Given the description of an element on the screen output the (x, y) to click on. 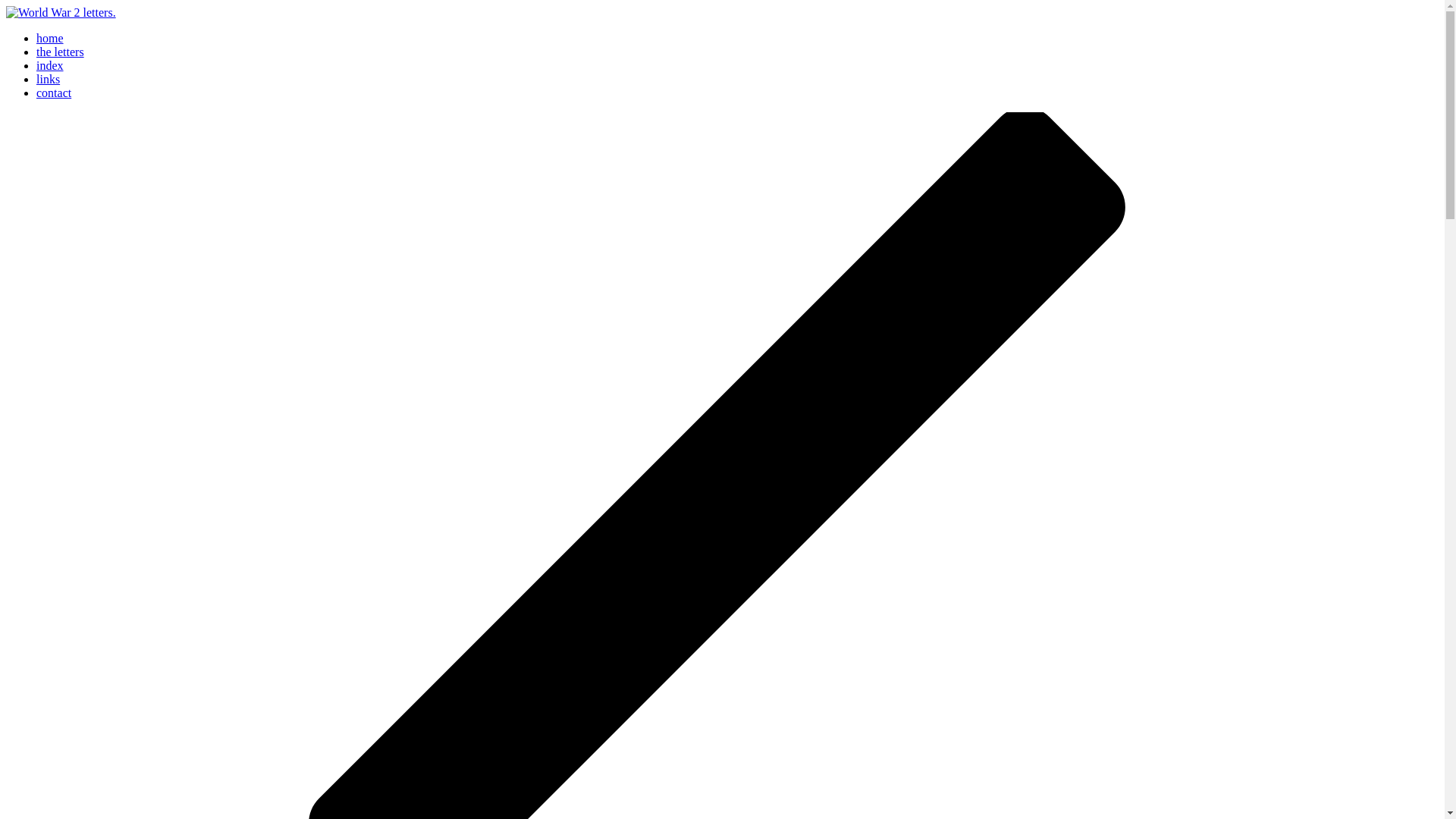
the letters (60, 51)
index (50, 65)
links (47, 78)
contact (53, 92)
home (50, 38)
